Given the description of an element on the screen output the (x, y) to click on. 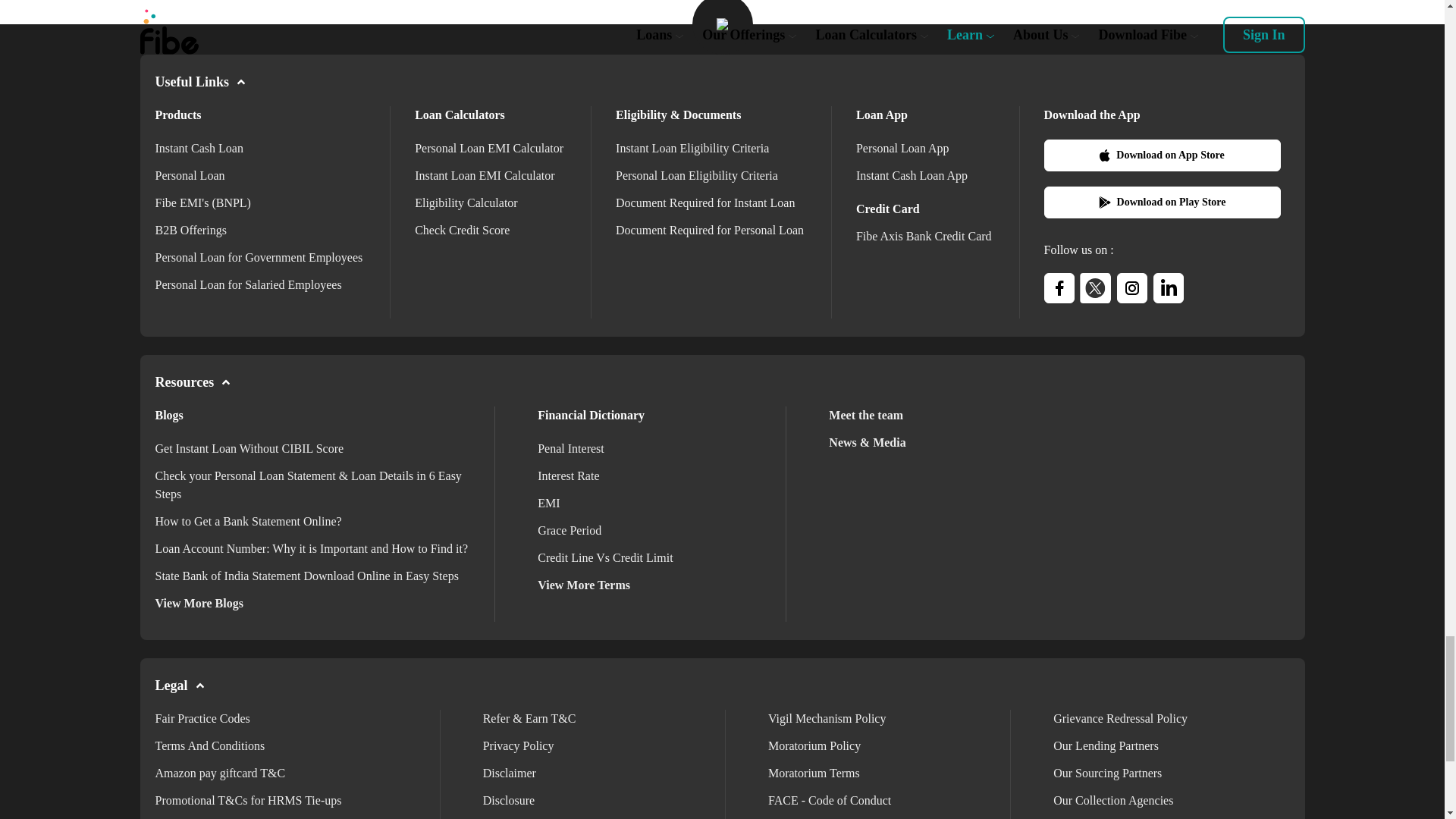
facebook (1058, 287)
Our Collection Agencies (1112, 799)
twitter (1095, 287)
instagram (1131, 287)
fair code practices (201, 717)
Our Sourcing Partners (1106, 772)
Grievance Redressal Policy (1120, 717)
Disclaimer (509, 772)
Privacy Policy (518, 745)
Our Lending Partners (1105, 745)
moratorium policy (814, 745)
face code conduct (829, 799)
moratorium-terms (814, 772)
vigil mechanism policy (826, 717)
disclosure (508, 799)
